Given the description of an element on the screen output the (x, y) to click on. 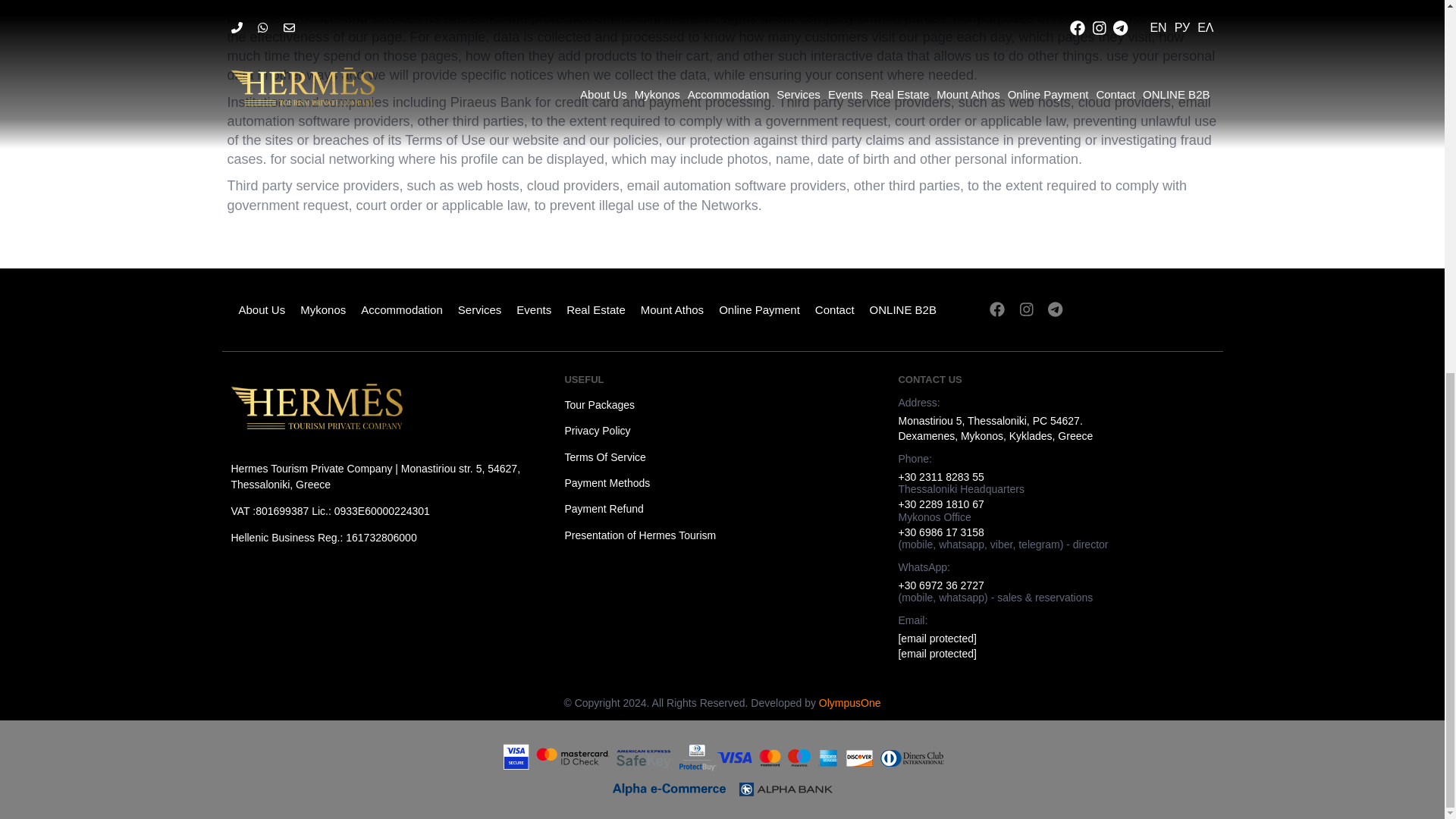
Online Payment (759, 309)
Mount Athos (672, 309)
Events (533, 309)
facebook (996, 309)
Contact (834, 309)
About Us (261, 309)
instagram (1026, 309)
telegram (1055, 309)
Mykonos (322, 309)
Services (479, 309)
